Given the description of an element on the screen output the (x, y) to click on. 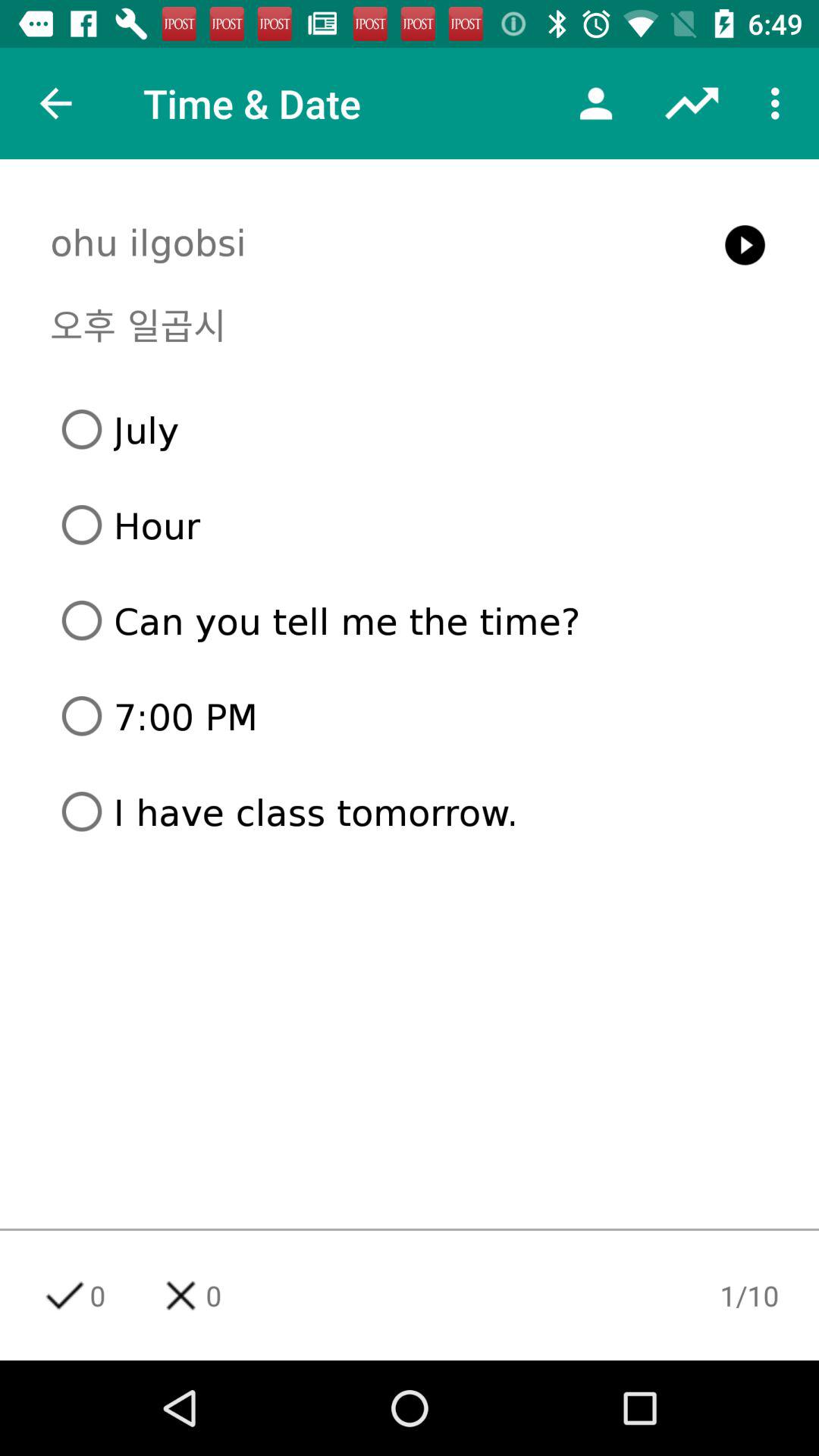
turn on the icon to the right of the time & date (595, 103)
